Given the description of an element on the screen output the (x, y) to click on. 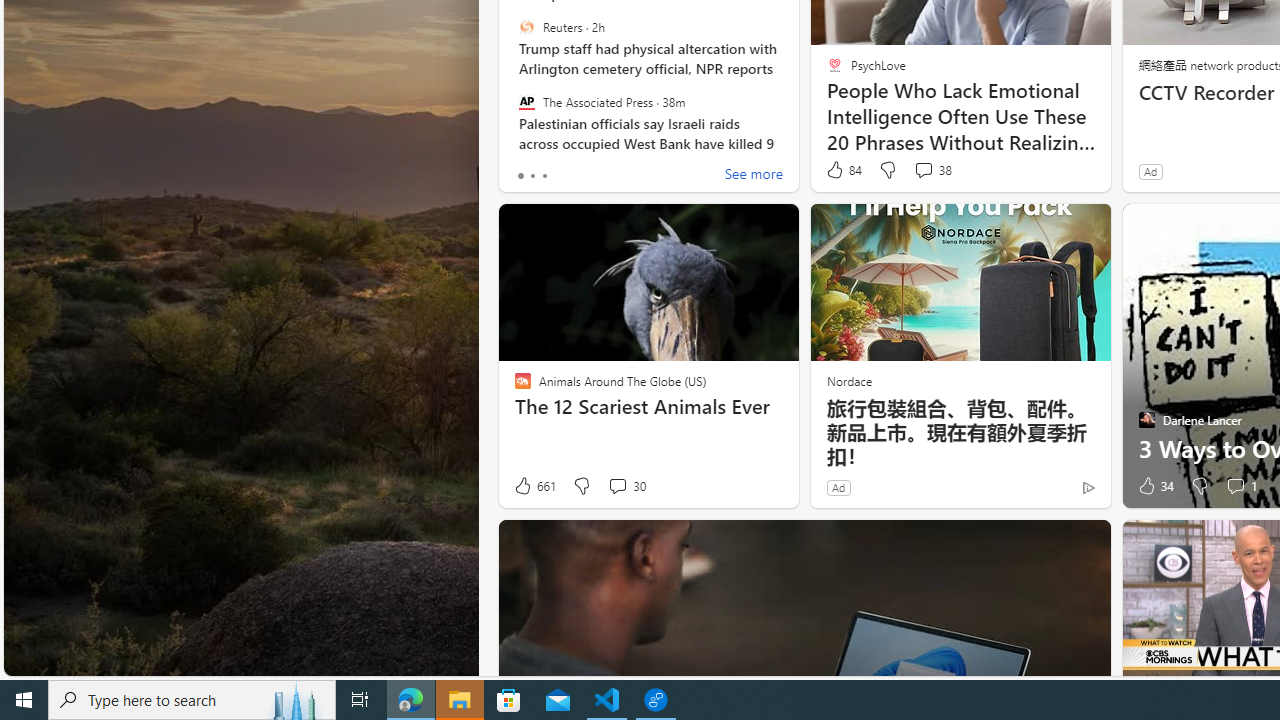
tab-1 (532, 175)
Ad Choice (1087, 487)
tab-0 (520, 175)
View comments 38 Comment (932, 170)
34 Like (1154, 485)
84 Like (843, 170)
View comments 38 Comment (923, 169)
View comments 30 Comment (626, 485)
Reuters (526, 27)
View comments 1 Comment (1234, 485)
View comments 30 Comment (617, 485)
The Associated Press (526, 101)
